Given the description of an element on the screen output the (x, y) to click on. 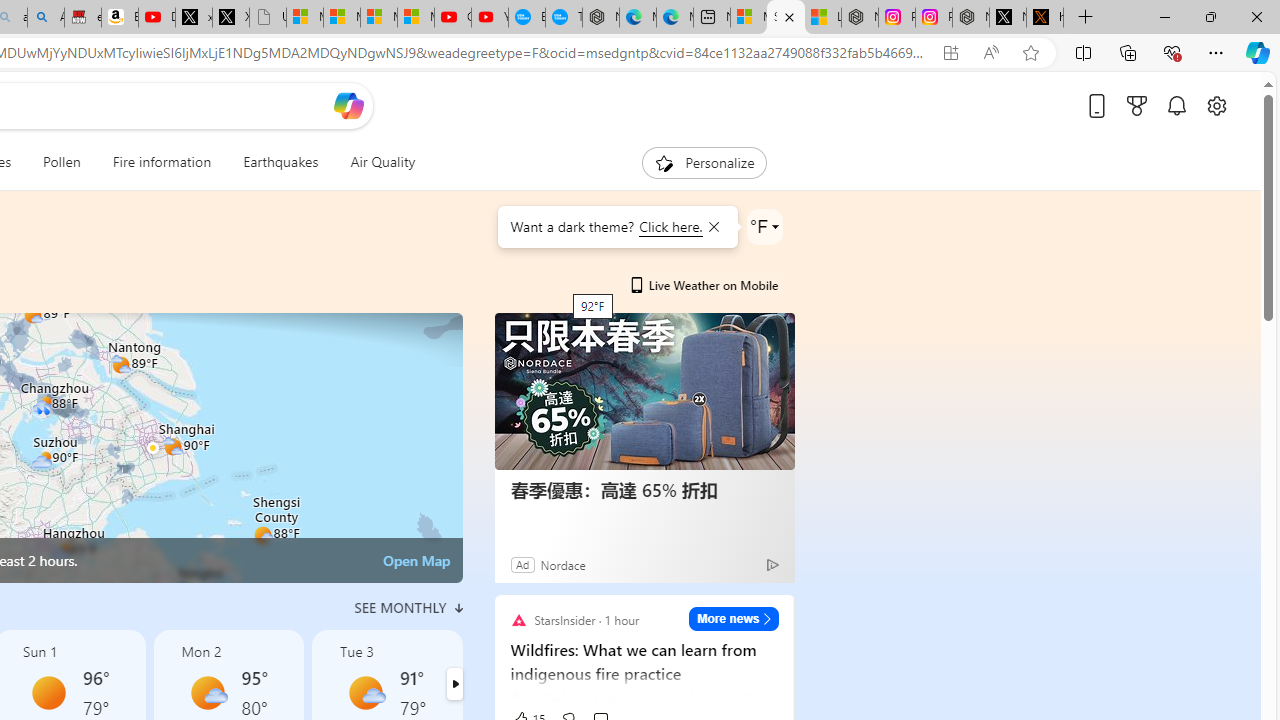
Air Quality (382, 162)
Weather settings Want a dark theme?Click here. (764, 226)
